Given the description of an element on the screen output the (x, y) to click on. 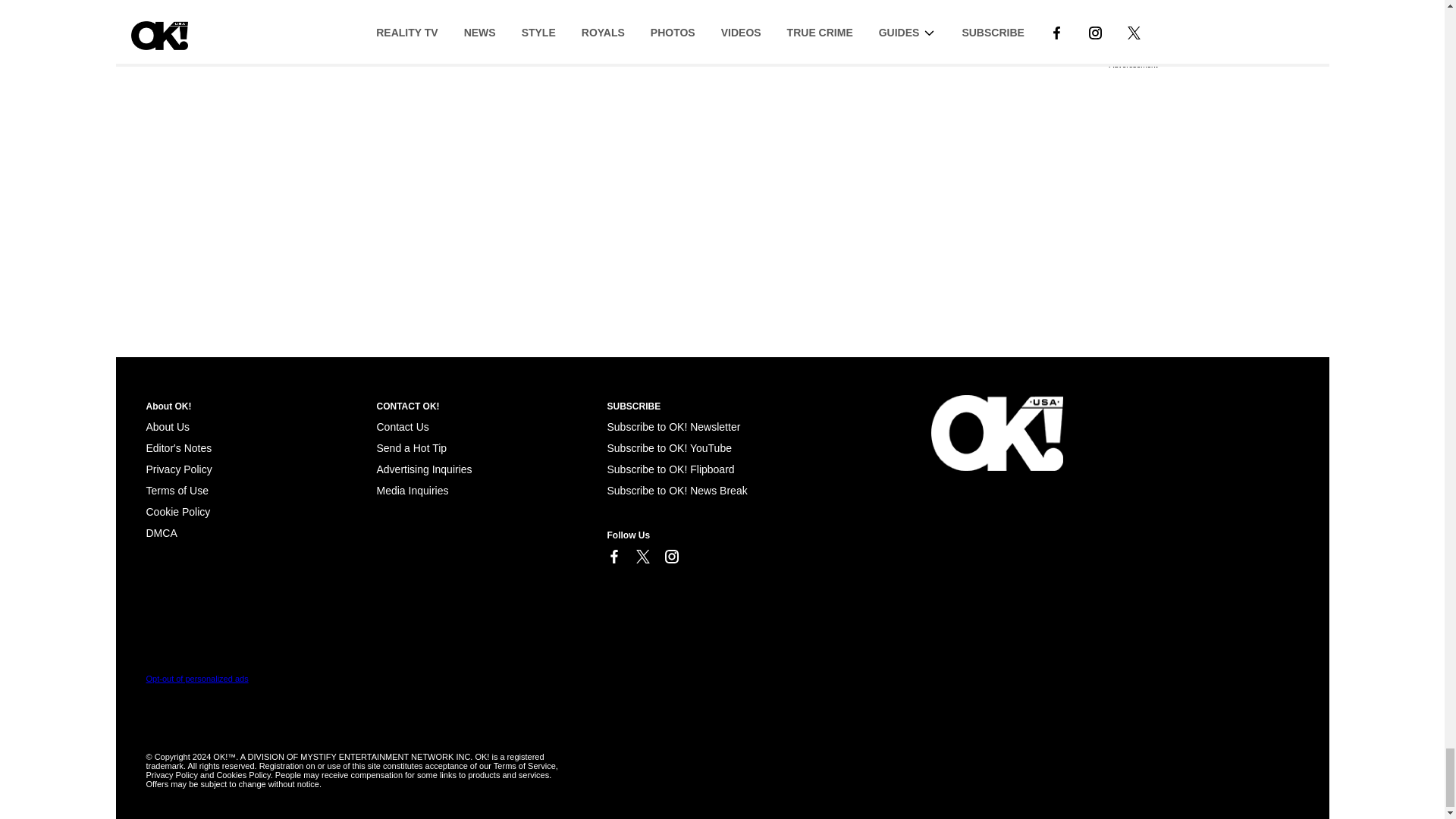
Subscribe to OK! Magazine on YouTube (668, 448)
Cookie Policy (177, 511)
Send a Hot Tip (410, 448)
Link to Instagram (670, 556)
Link to X (641, 556)
Cookie Policy (160, 532)
Advertising Inquiries (423, 469)
Subscribe to OK! (673, 426)
Contact Us (401, 426)
Editor's Notes (178, 448)
Link to Facebook (613, 556)
Media Inquiries (411, 490)
Privacy Policy (178, 469)
About Us (167, 426)
Terms of Use (176, 490)
